Given the description of an element on the screen output the (x, y) to click on. 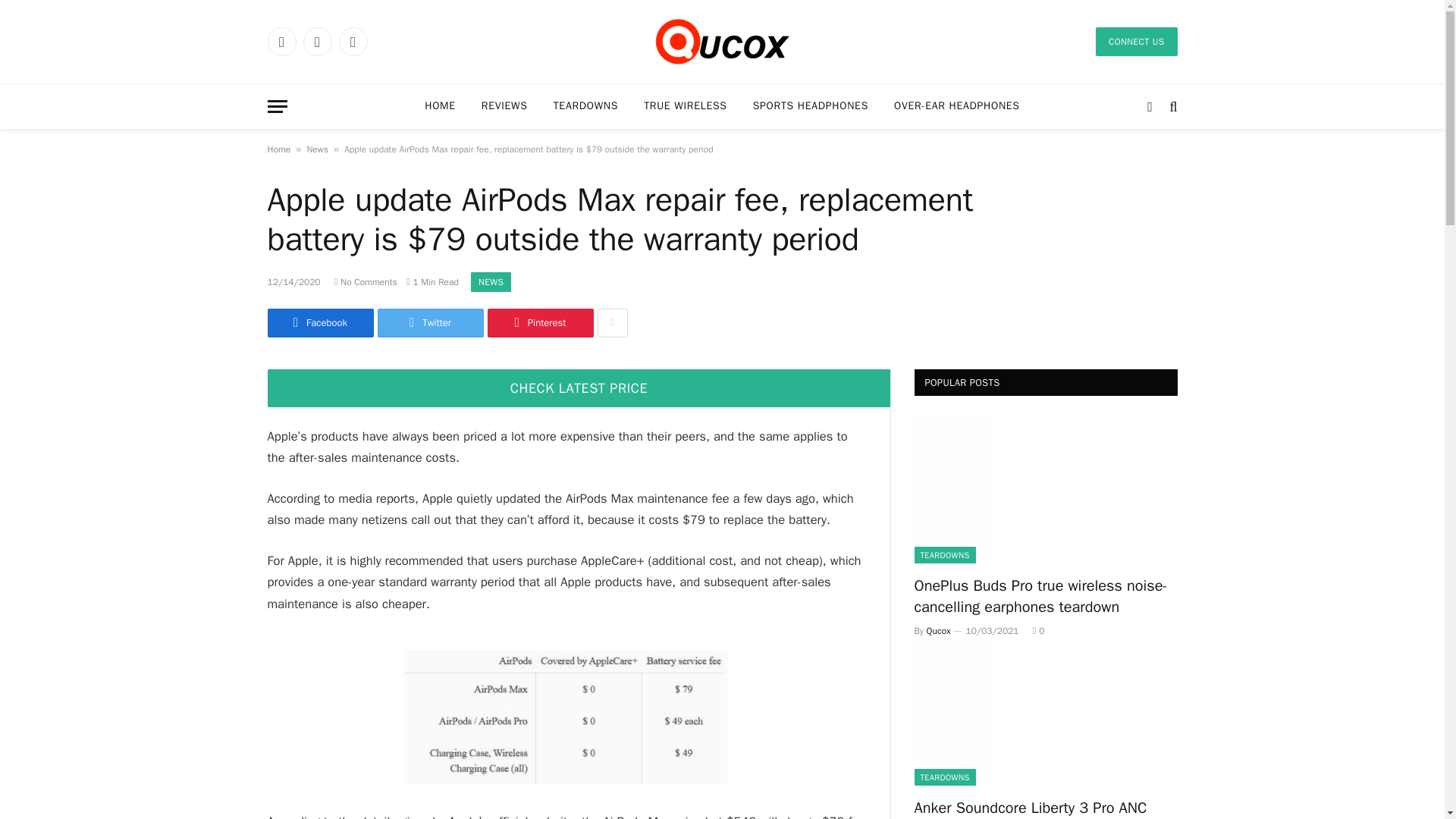
Share on Pinterest (539, 322)
TEARDOWNS (585, 106)
SPORTS HEADPHONES (809, 106)
HOME (440, 106)
No Comments (365, 282)
Twitter (430, 322)
News (317, 149)
Share on Facebook (319, 322)
OVER-EAR HEADPHONES (956, 106)
Home (277, 149)
Pinterest (539, 322)
Pinterest (351, 41)
Qucox (721, 41)
TRUE WIRELESS (684, 106)
Instagram (316, 41)
